Given the description of an element on the screen output the (x, y) to click on. 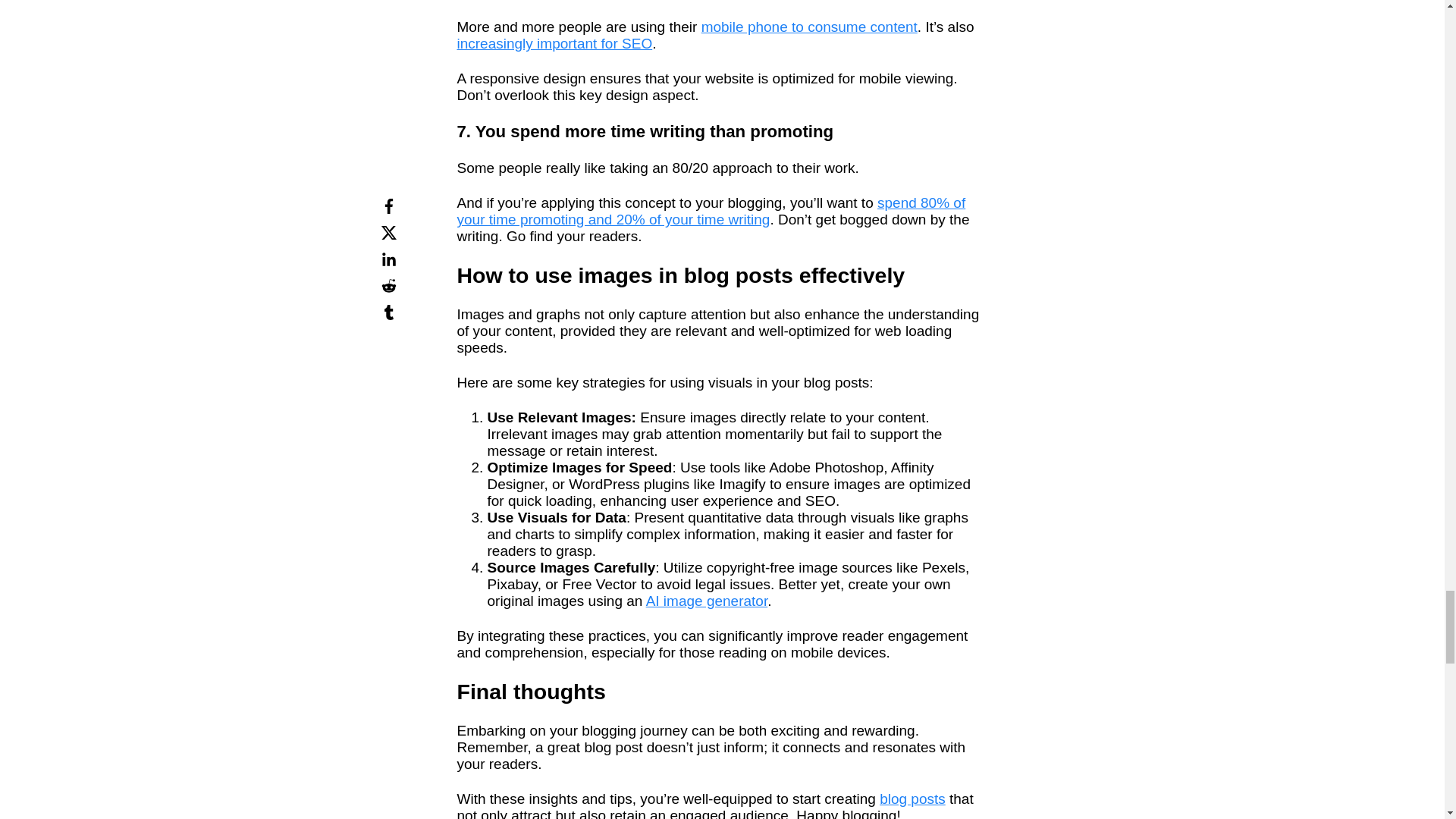
AI image generator (707, 600)
blog posts (911, 798)
increasingly important for SEO (554, 43)
mobile phone to consume content (809, 26)
